Given the description of an element on the screen output the (x, y) to click on. 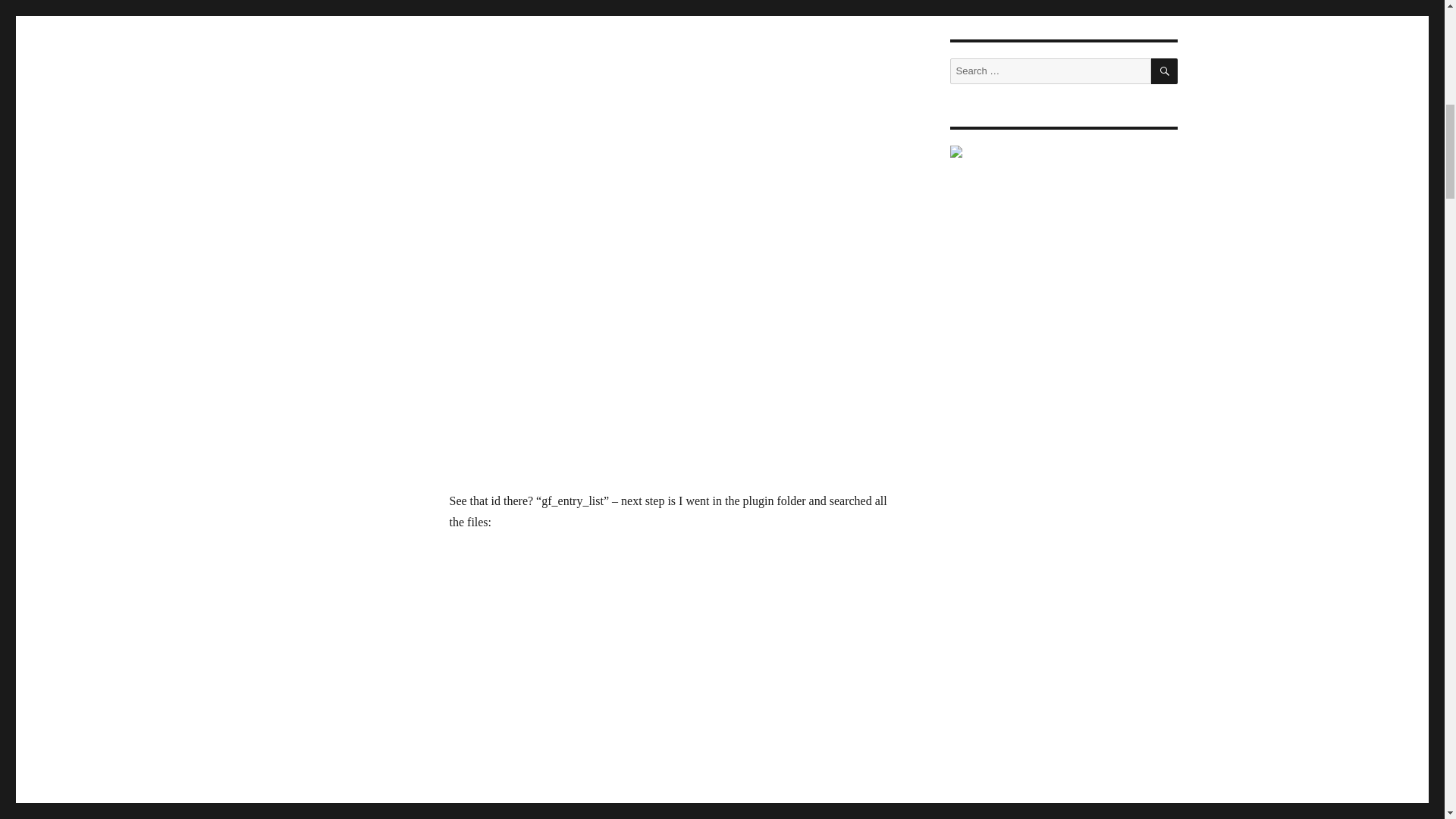
SEARCH (1164, 71)
